Given the description of an element on the screen output the (x, y) to click on. 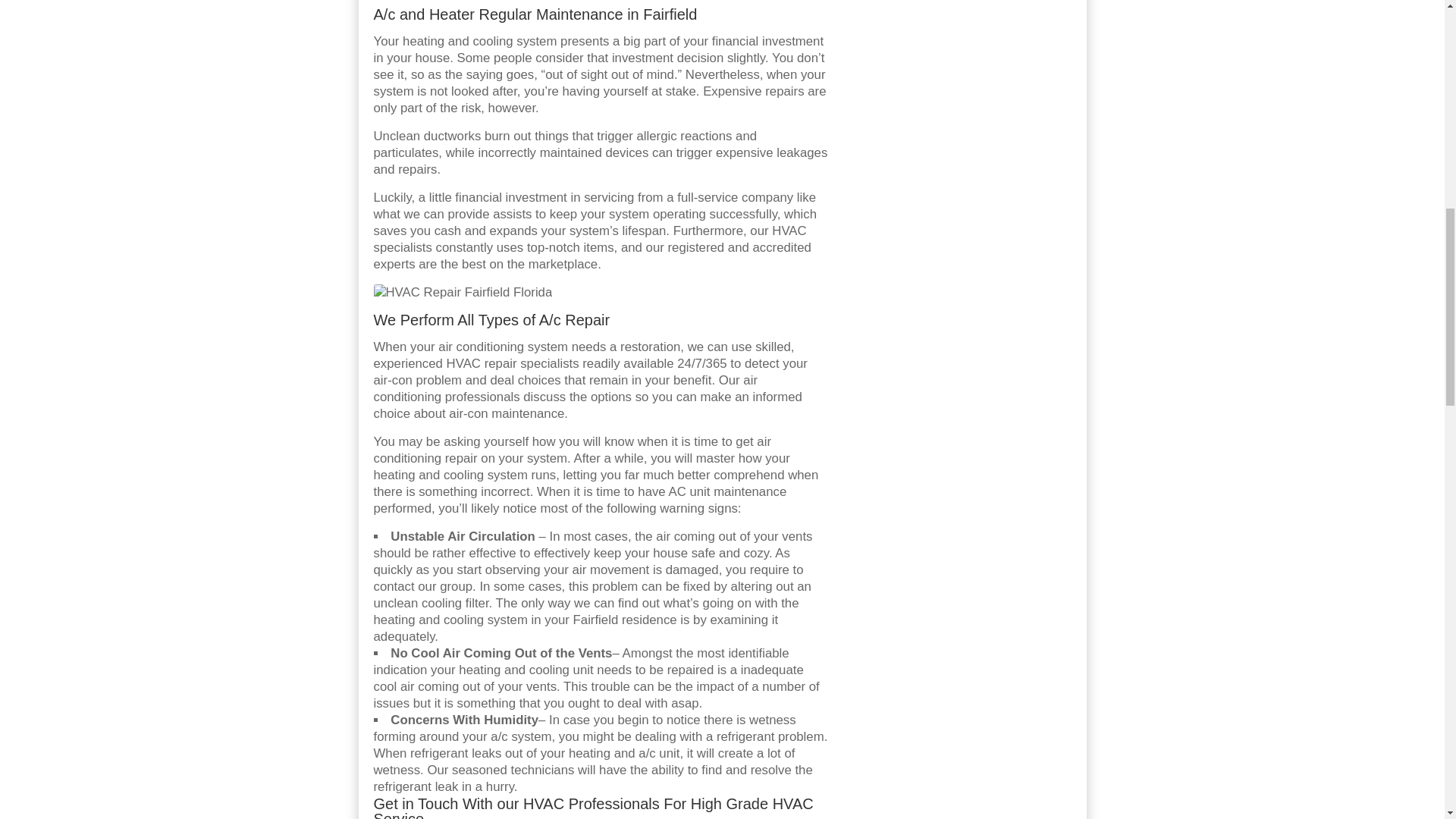
HVAC Repair Fairfield FL (461, 292)
